Given the description of an element on the screen output the (x, y) to click on. 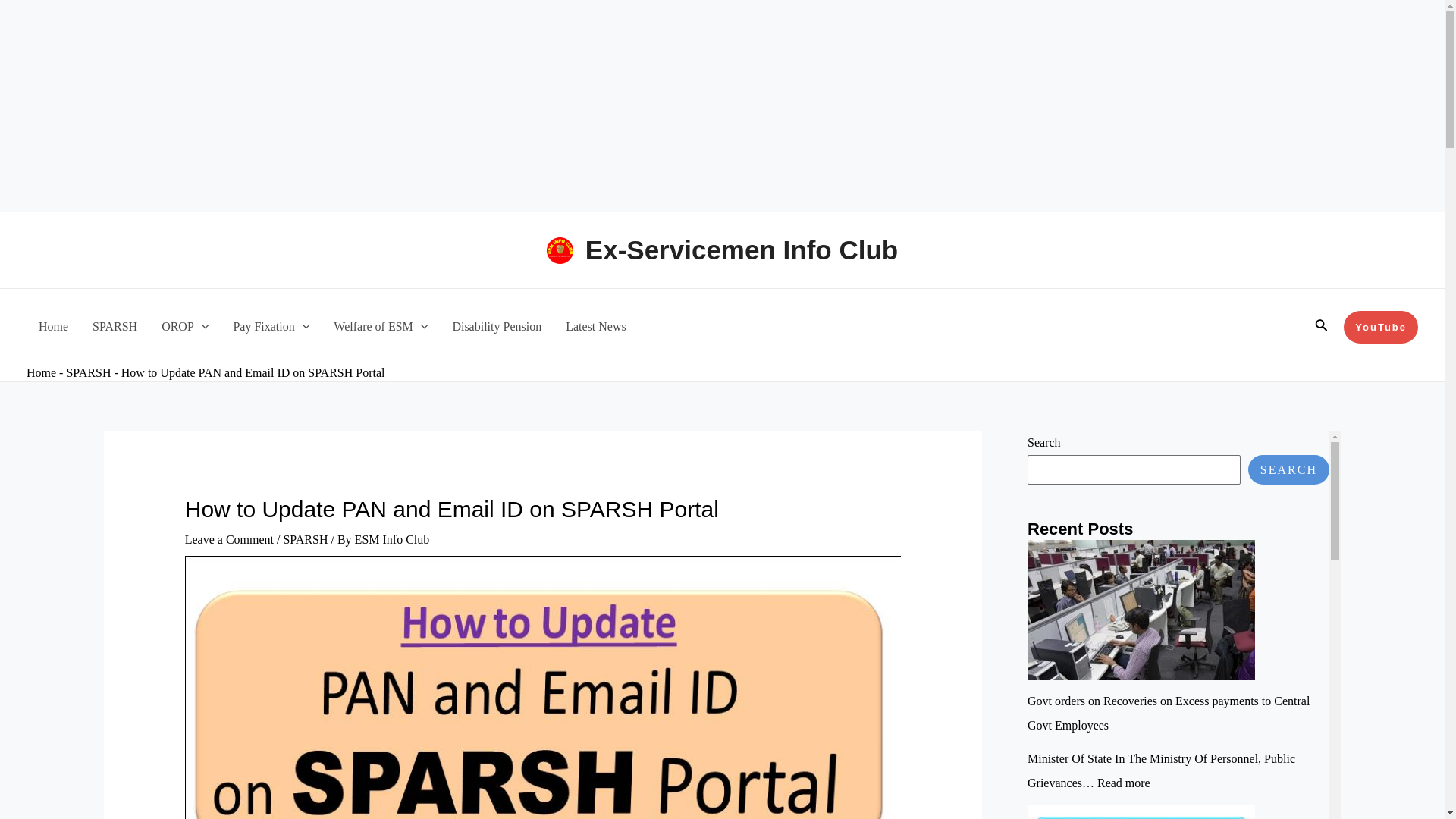
Search (1320, 326)
OROP (185, 326)
SPARSH (304, 539)
Home (53, 326)
Ex-Servicemen Info Club (741, 249)
ESM Info Club (392, 539)
SPARSH (114, 326)
YouTube (1380, 327)
SPARSH (87, 372)
Home (41, 372)
Pay Fixation (271, 326)
Welfare of ESM (380, 326)
